Given the description of an element on the screen output the (x, y) to click on. 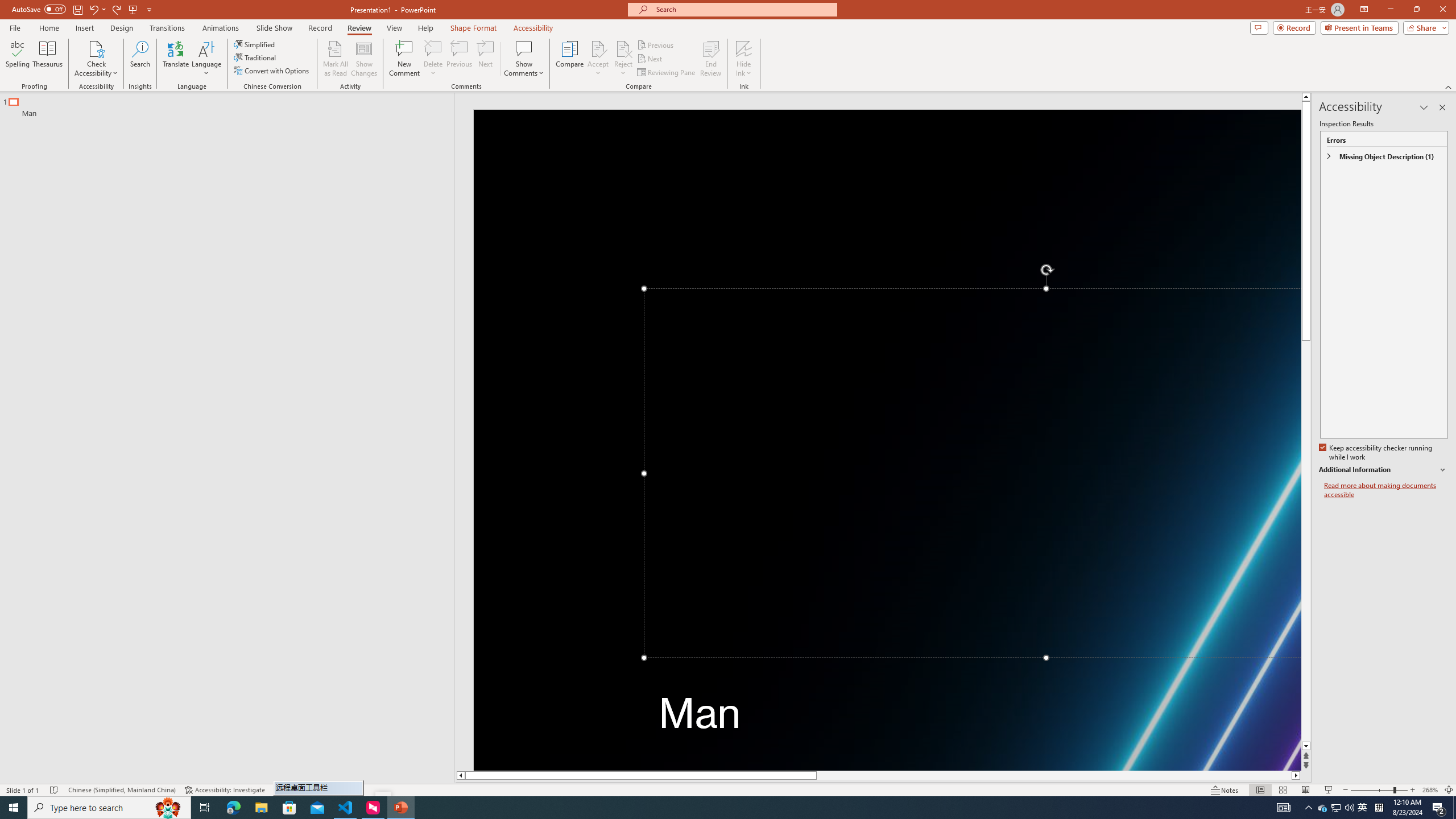
Outline (231, 104)
Additional Information (1383, 469)
Spelling... (17, 58)
Convert with Options... (272, 69)
Compare (569, 58)
Traditional (255, 56)
